Given the description of an element on the screen output the (x, y) to click on. 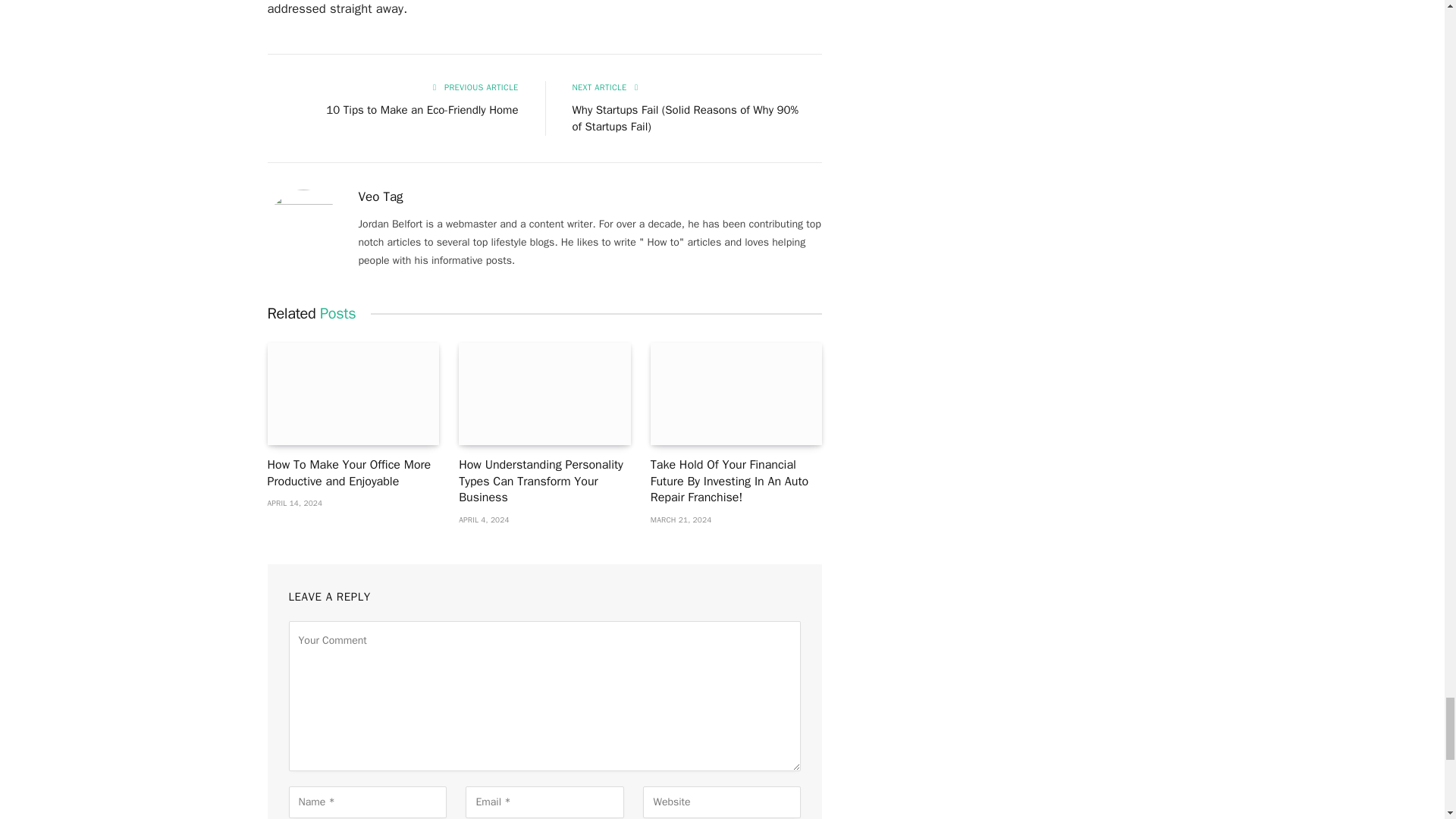
How To Make Your Office More Productive and Enjoyable (352, 394)
Posts by Veo Tag (380, 196)
